Given the description of an element on the screen output the (x, y) to click on. 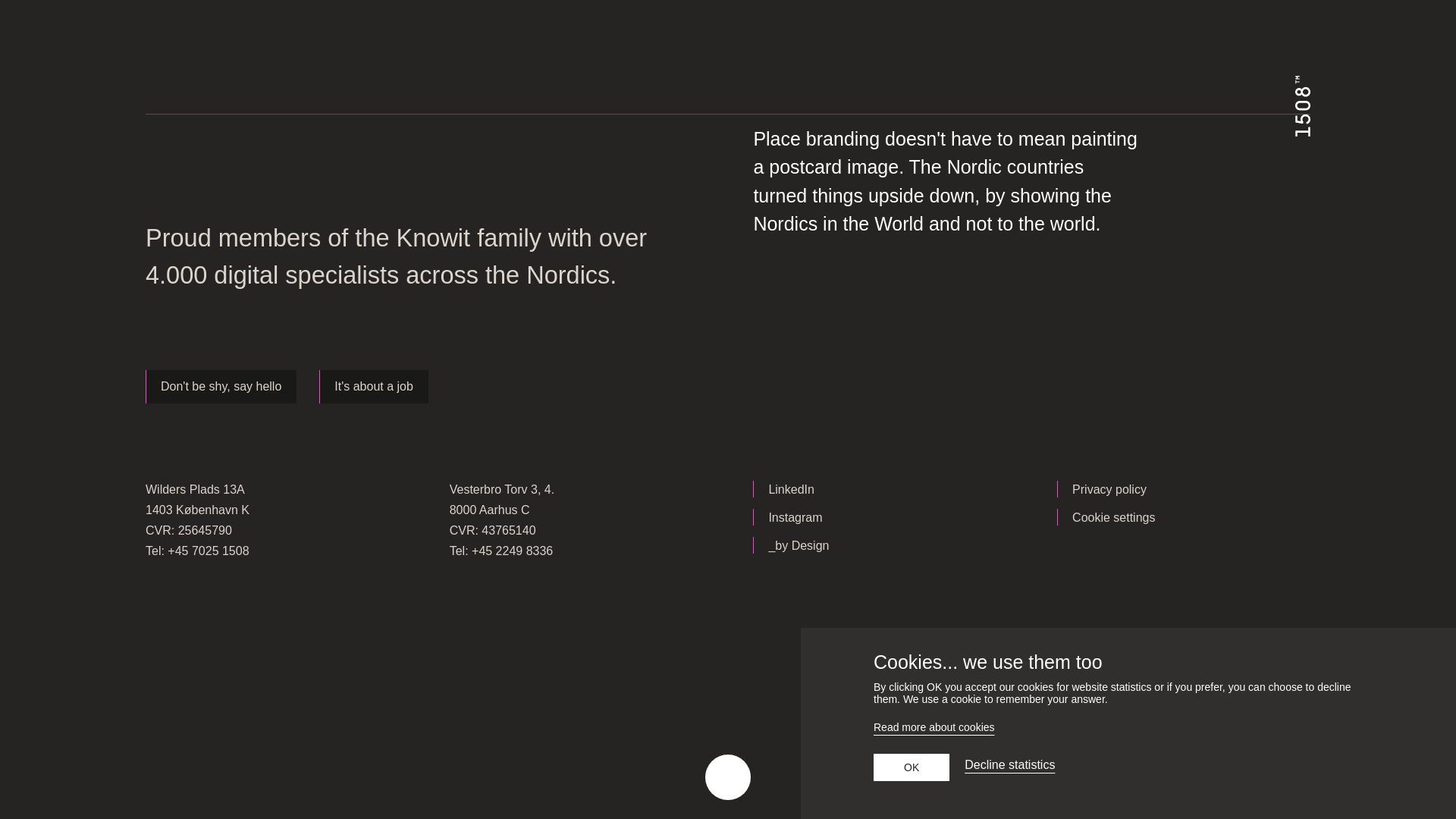
Cookie settings (1113, 516)
It's about a job (373, 386)
Don't be shy, say hello (221, 386)
Privacy policy (1109, 488)
LinkedIn (790, 488)
Instagram (794, 516)
